Given the description of an element on the screen output the (x, y) to click on. 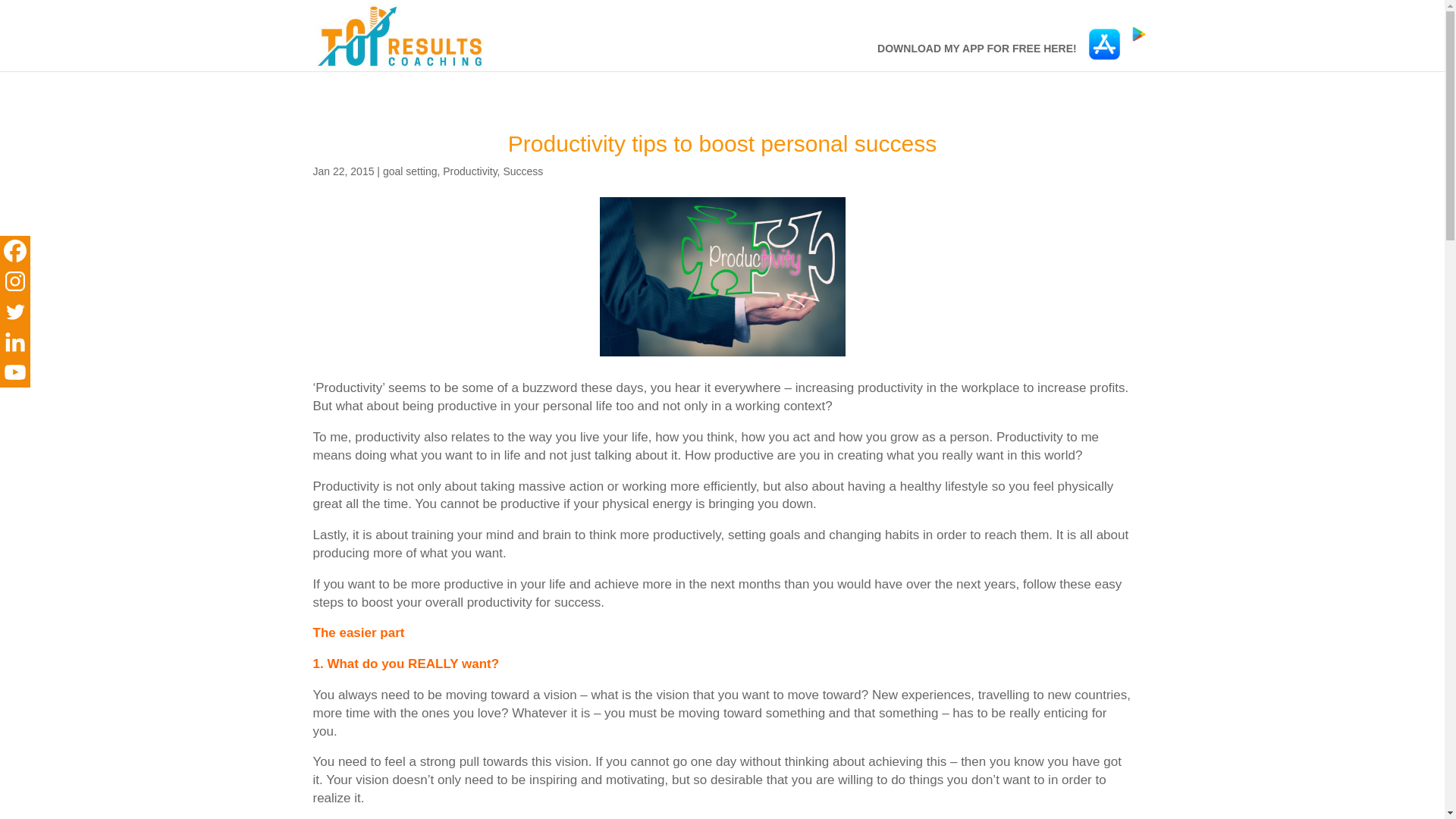
Instagram (15, 281)
goal setting (410, 171)
Twitter (15, 311)
Success (522, 171)
Linkedin (15, 341)
Youtube (15, 372)
Productivity (469, 171)
DOWNLOAD MY APP FOR FREE HERE! (977, 57)
Facebook (15, 250)
